Given the description of an element on the screen output the (x, y) to click on. 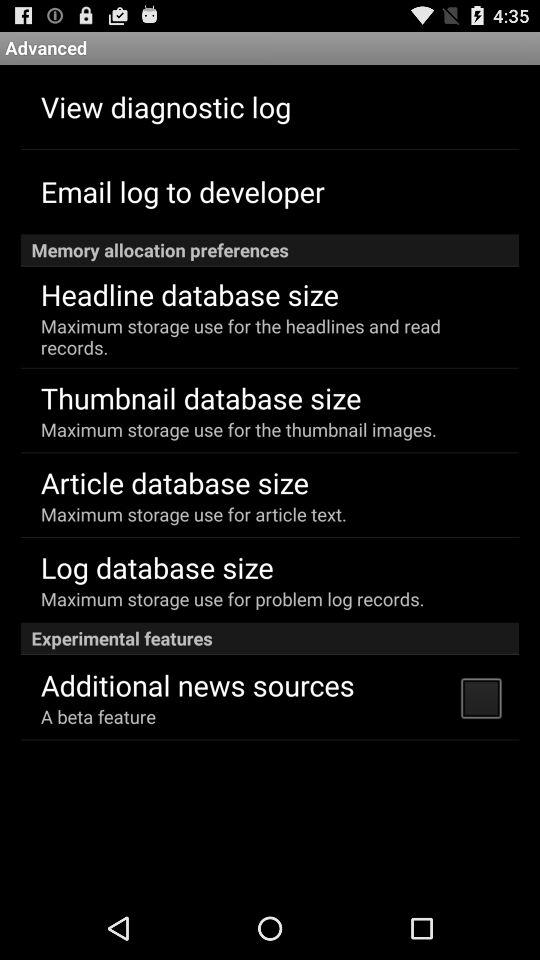
tap app at the bottom left corner (98, 716)
